Given the description of an element on the screen output the (x, y) to click on. 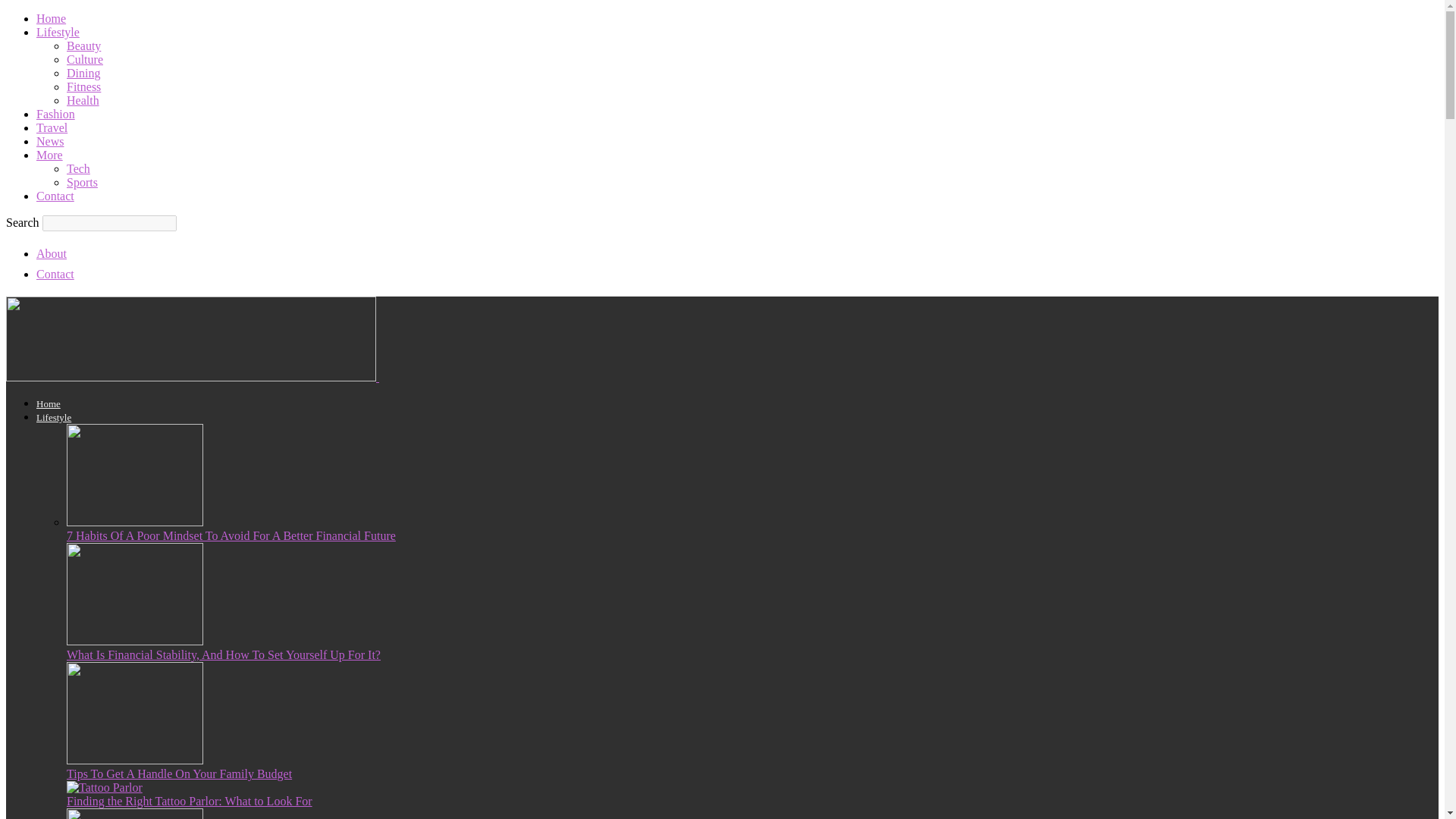
Tips To Get A Handle On Your Family Budget (179, 773)
Home (48, 403)
Travel (51, 127)
About (51, 253)
Tech (78, 168)
Health (82, 100)
Lifestyle (53, 417)
Home (50, 18)
Tips To Get A Handle On Your Family Budget (134, 759)
